Given the description of an element on the screen output the (x, y) to click on. 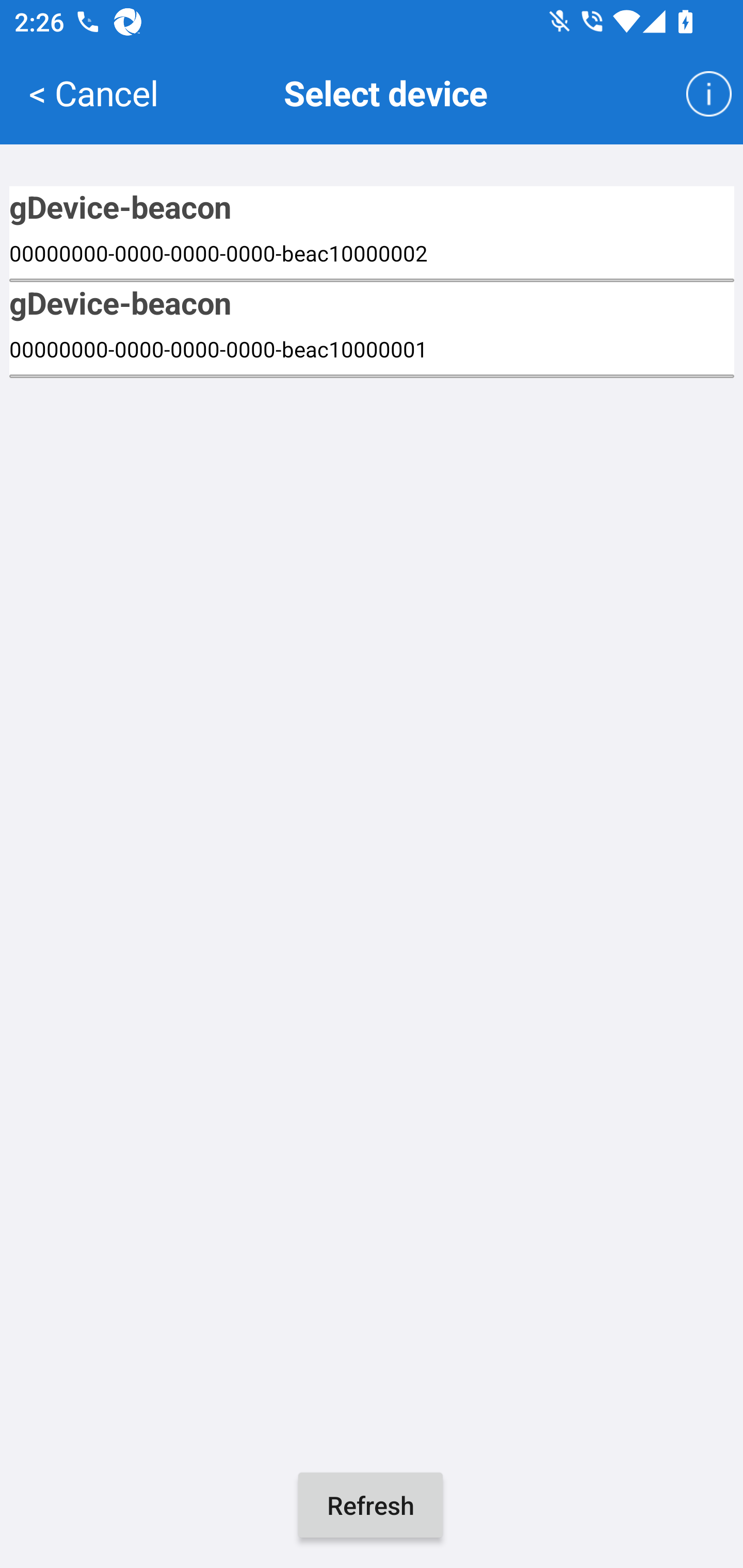
< Cancel (93, 92)
Refresh (370, 1505)
